Given the description of an element on the screen output the (x, y) to click on. 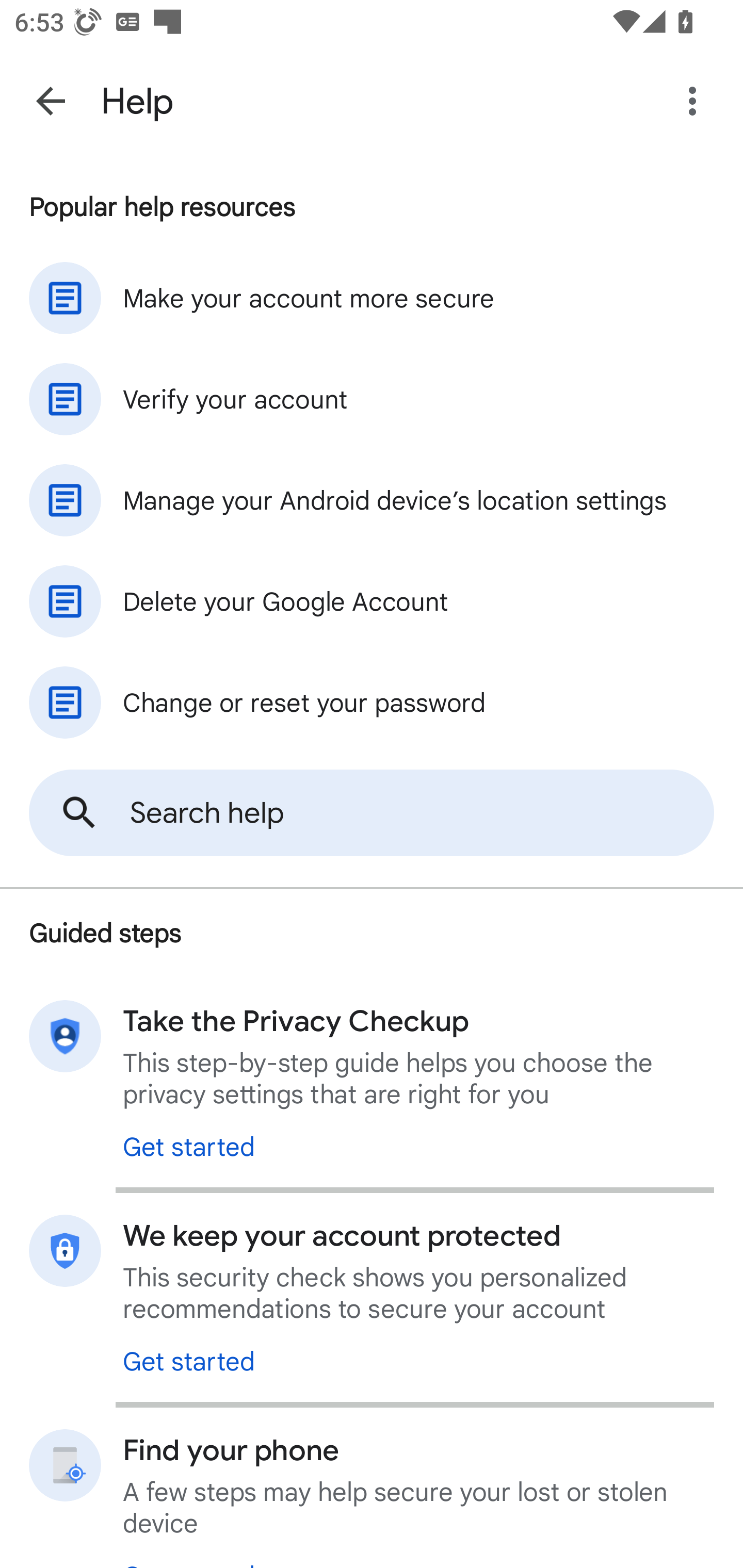
Navigate up (50, 101)
More options (696, 101)
Make your account more secure (371, 297)
Verify your account (371, 399)
Manage your Android device’s location settings (371, 500)
Delete your Google Account (371, 601)
Change or reset your password (371, 702)
Search help (371, 812)
